Given the description of an element on the screen output the (x, y) to click on. 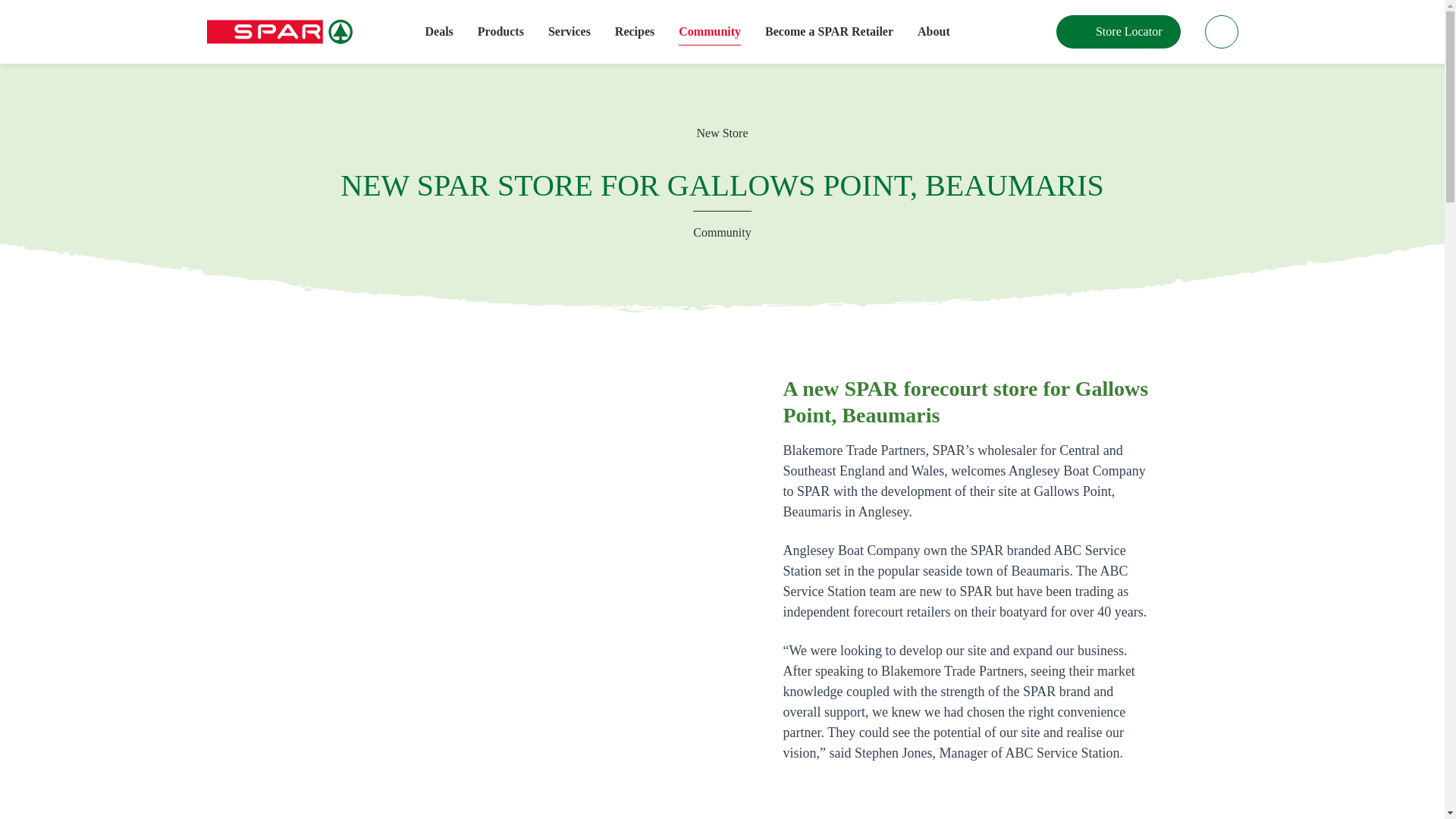
Community (709, 31)
Services (569, 31)
Recipes (633, 31)
Products (500, 31)
